Given the description of an element on the screen output the (x, y) to click on. 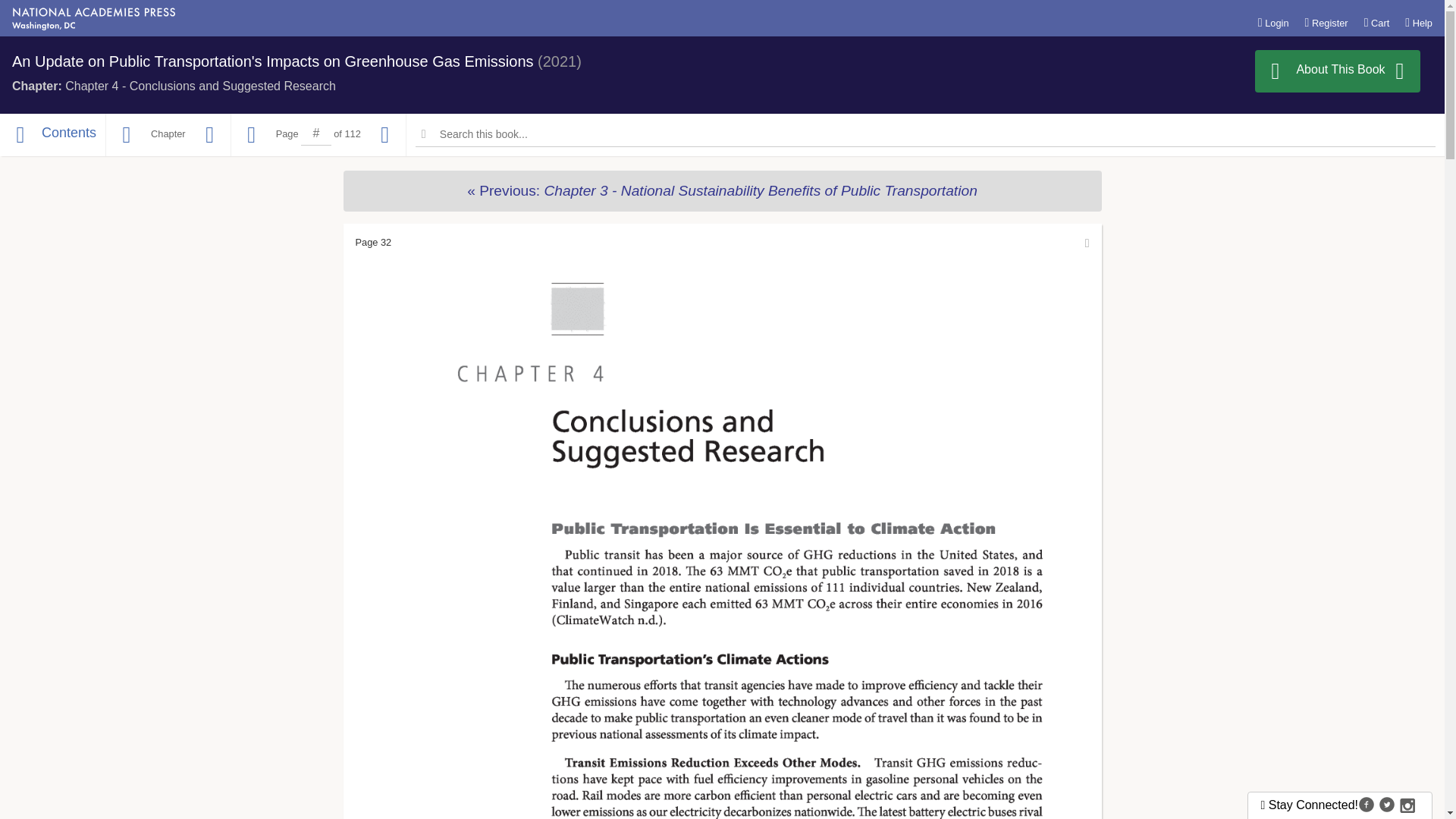
Register (1326, 22)
Previous Chapter (126, 134)
Help (1418, 22)
Previous Page (251, 134)
Buy or download a copy of this book. (1338, 70)
Previous Chapter (721, 190)
Cart (1377, 22)
Login (1272, 22)
Next Page (385, 134)
Next Chapter (209, 134)
